Given the description of an element on the screen output the (x, y) to click on. 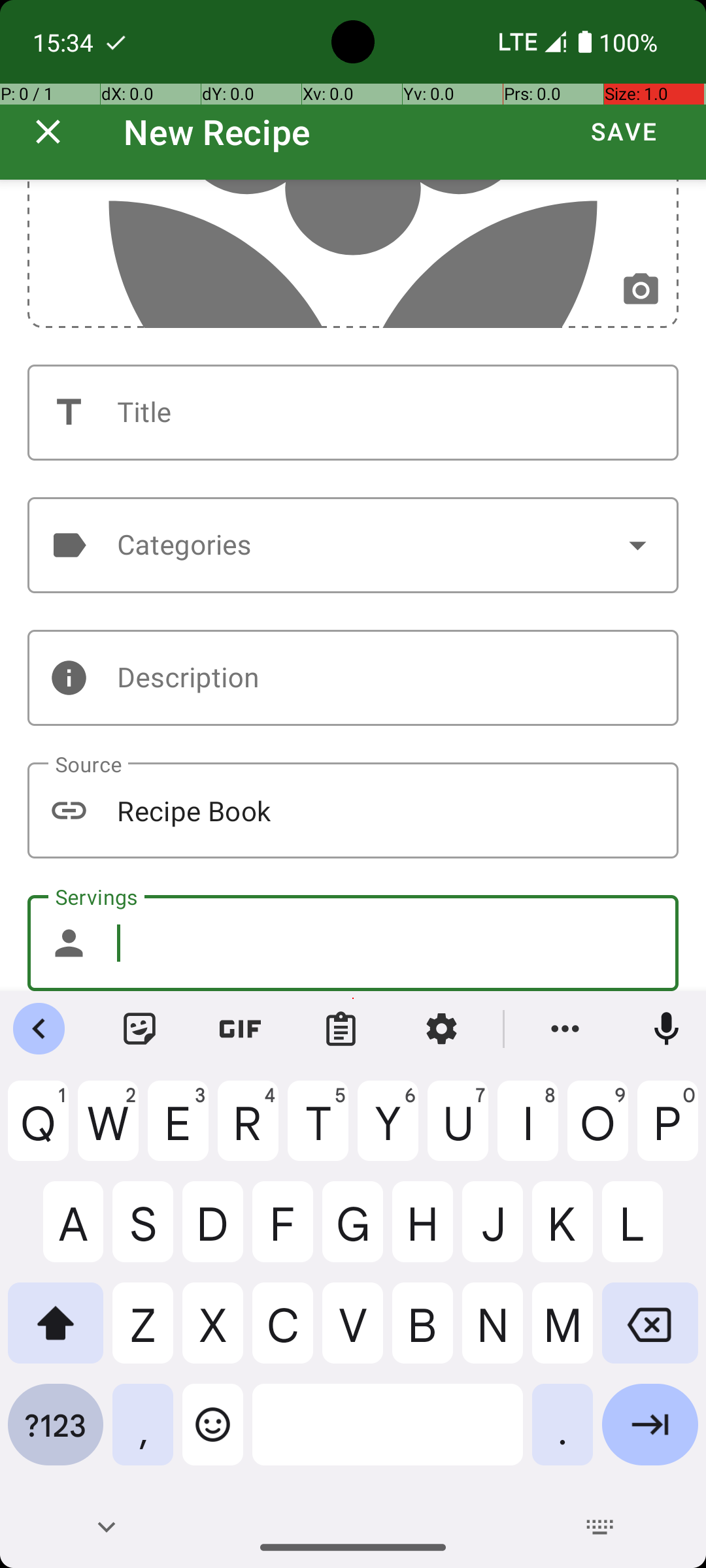
Recipe Book Element type: android.widget.EditText (352, 810)
